Given the description of an element on the screen output the (x, y) to click on. 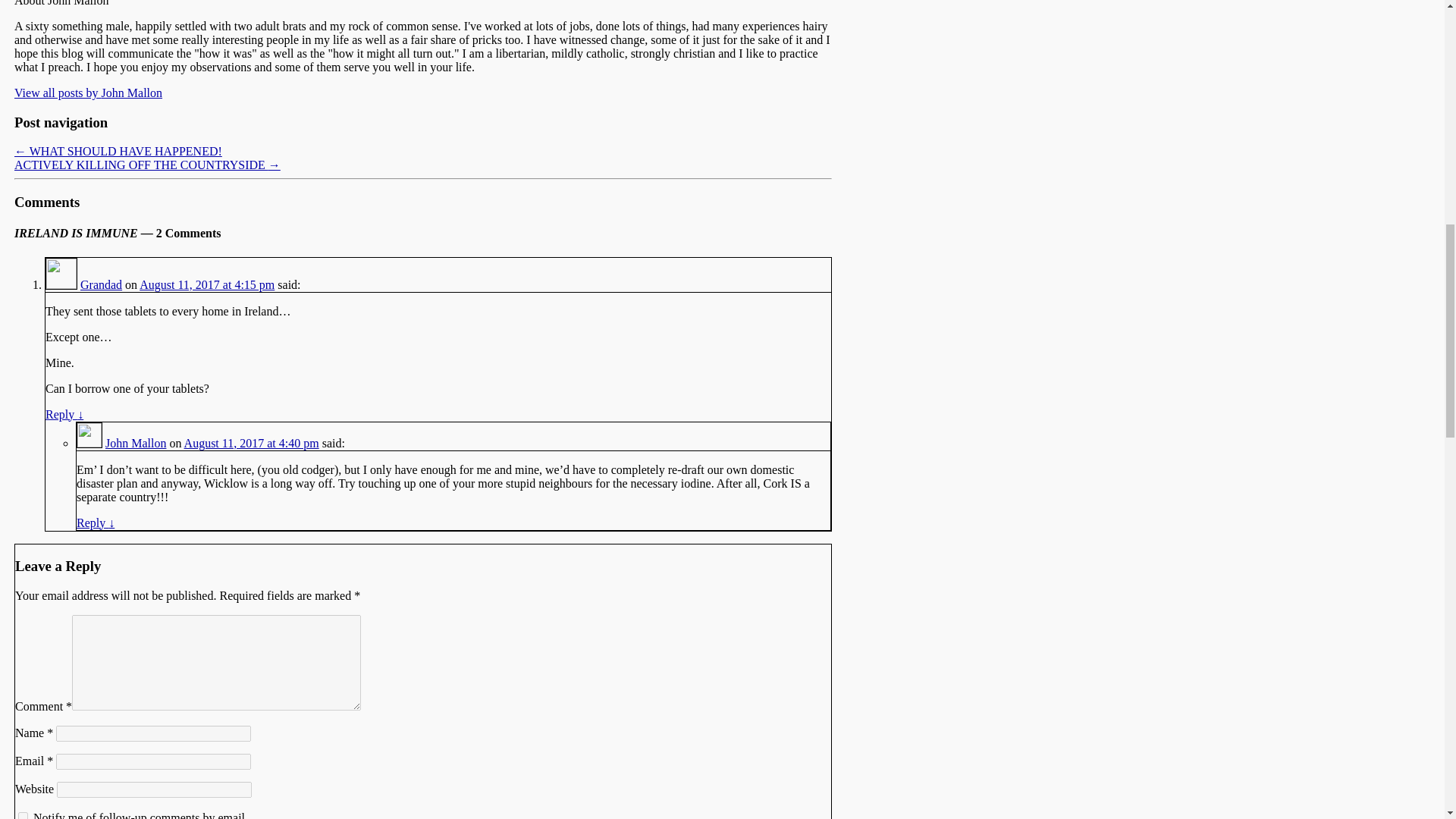
John Mallon (134, 442)
Grandad (101, 284)
View all posts by John Mallon (87, 92)
subscribe (22, 815)
August 11, 2017 at 4:40 pm (251, 442)
August 11, 2017 at 4:15 pm (207, 284)
